Given the description of an element on the screen output the (x, y) to click on. 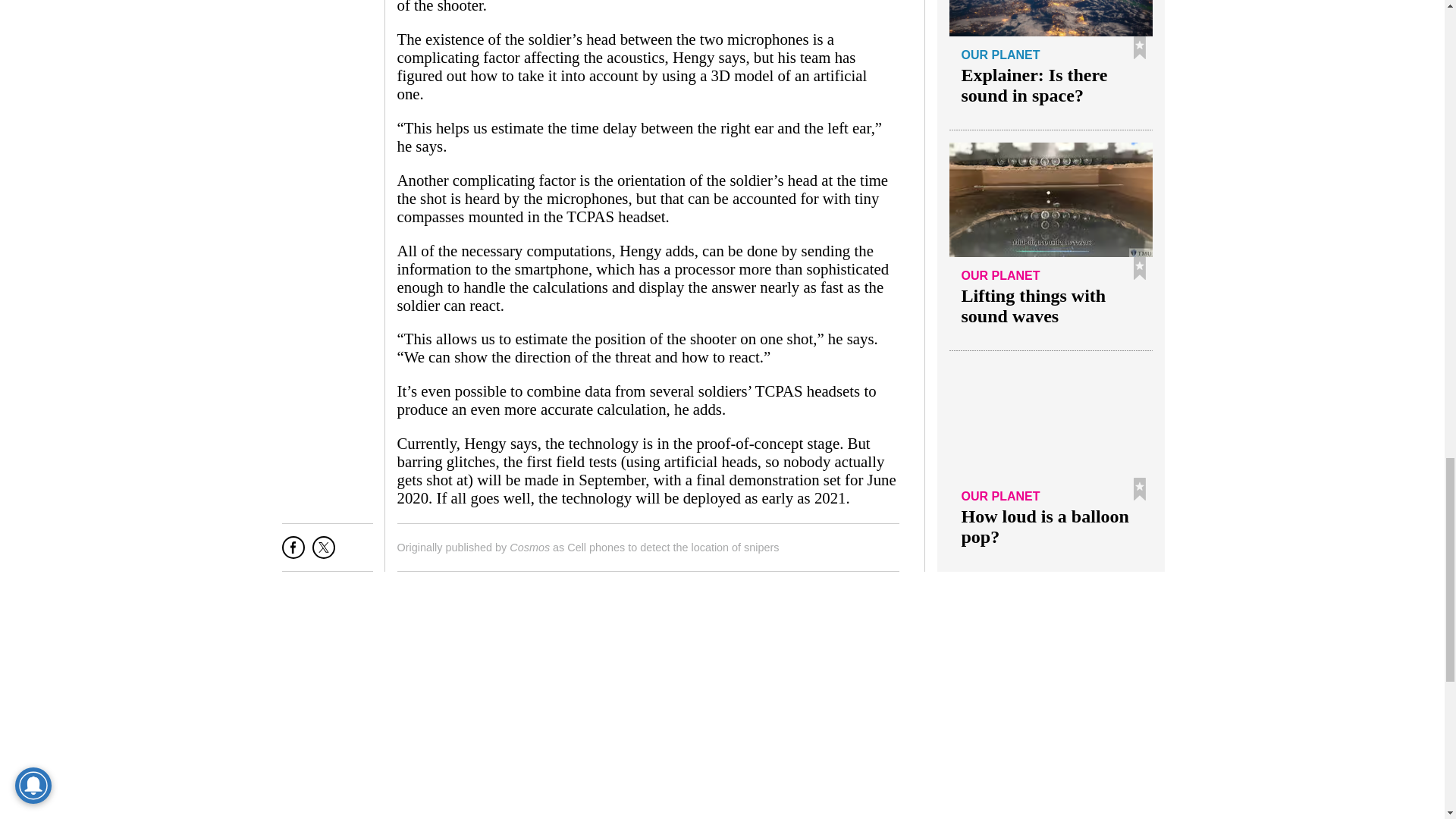
Share on Facebook (293, 552)
Cell phones to detect the location of snipers (672, 547)
Tweet (323, 552)
